Given the description of an element on the screen output the (x, y) to click on. 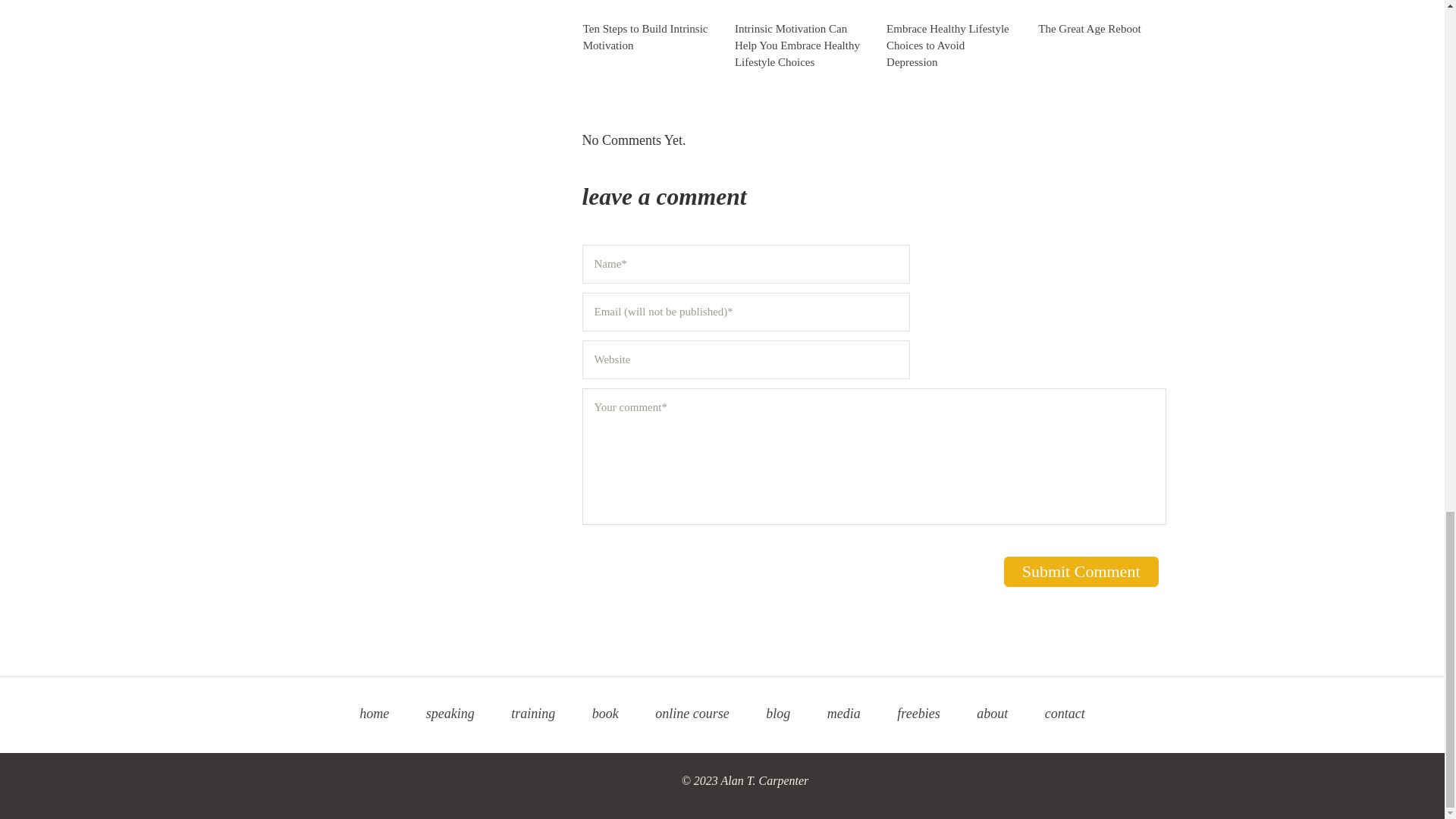
Submit Comment (1081, 571)
Ten Steps to Build Intrinsic Motivation (645, 36)
Submit Comment (1081, 571)
The Great Age Reboot (1089, 28)
Website (746, 359)
Embrace Healthy Lifestyle Choices to Avoid Depression (947, 44)
home (373, 713)
